Given the description of an element on the screen output the (x, y) to click on. 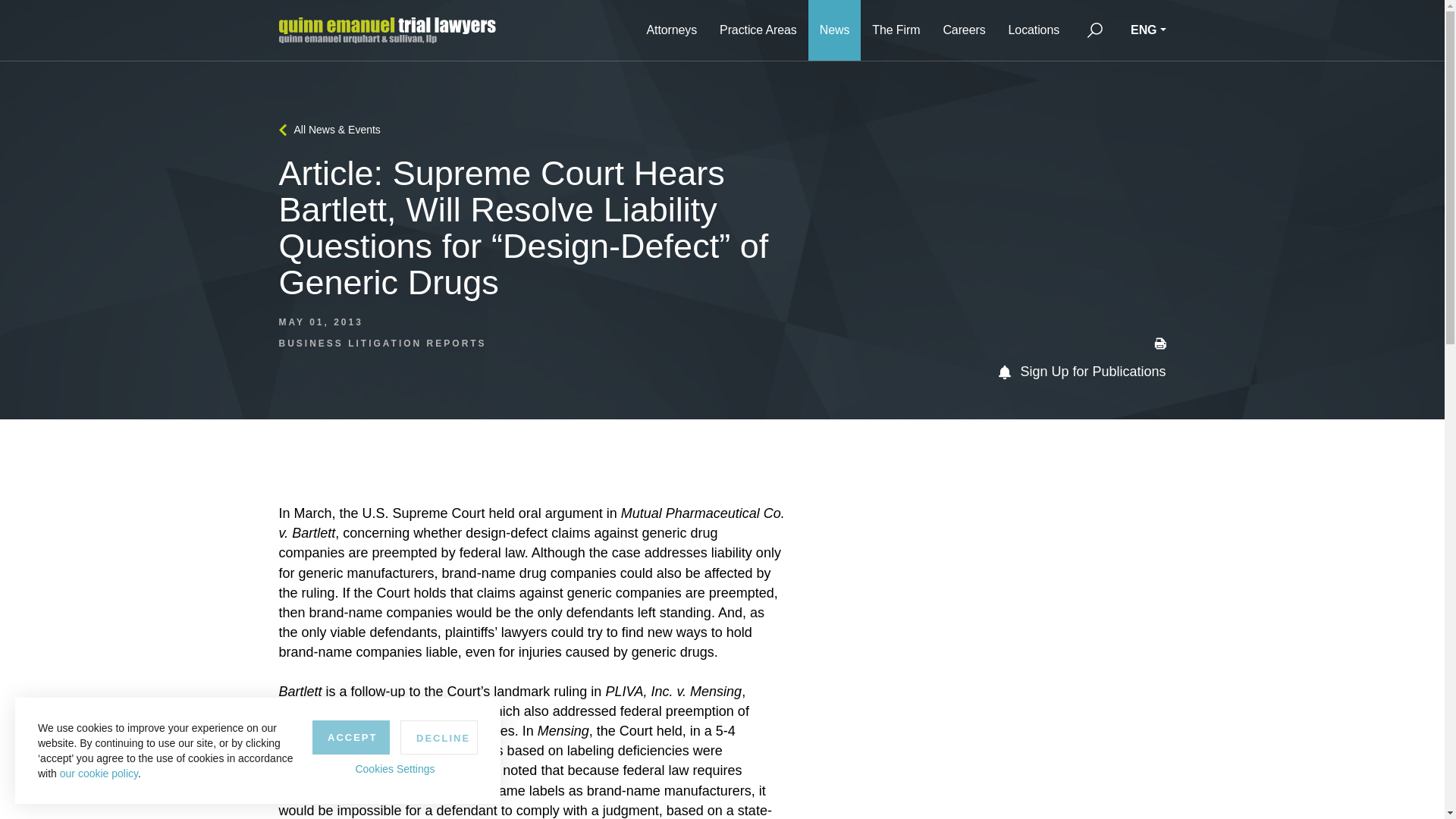
Practice Areas (757, 30)
News (834, 30)
Attorneys (670, 30)
Locations (1034, 30)
Practice Areas (757, 30)
Attorneys (670, 30)
The Firm (895, 30)
